Given the description of an element on the screen output the (x, y) to click on. 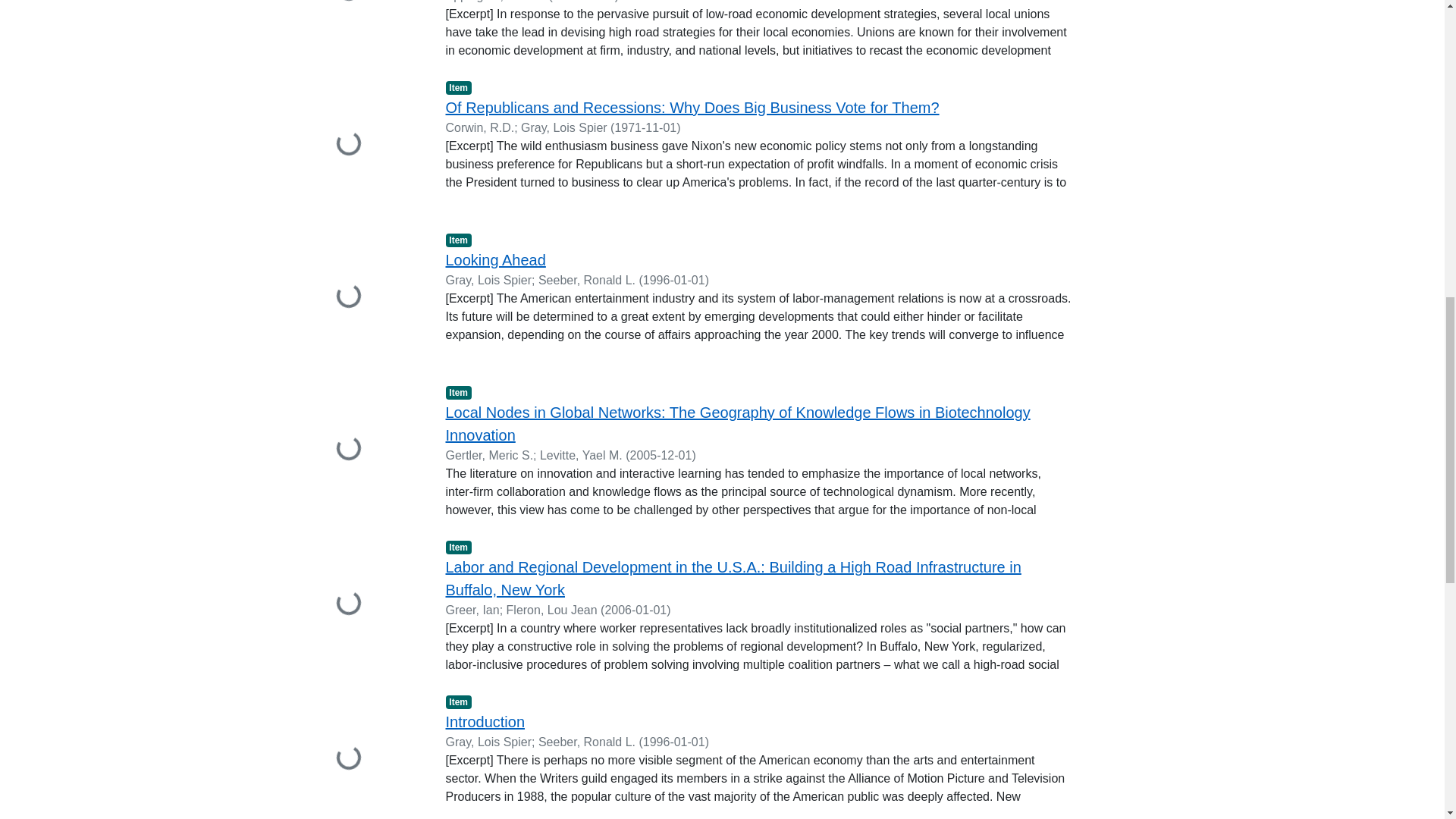
Loading... (362, 144)
Loading... (362, 297)
Loading... (362, 28)
